Given the description of an element on the screen output the (x, y) to click on. 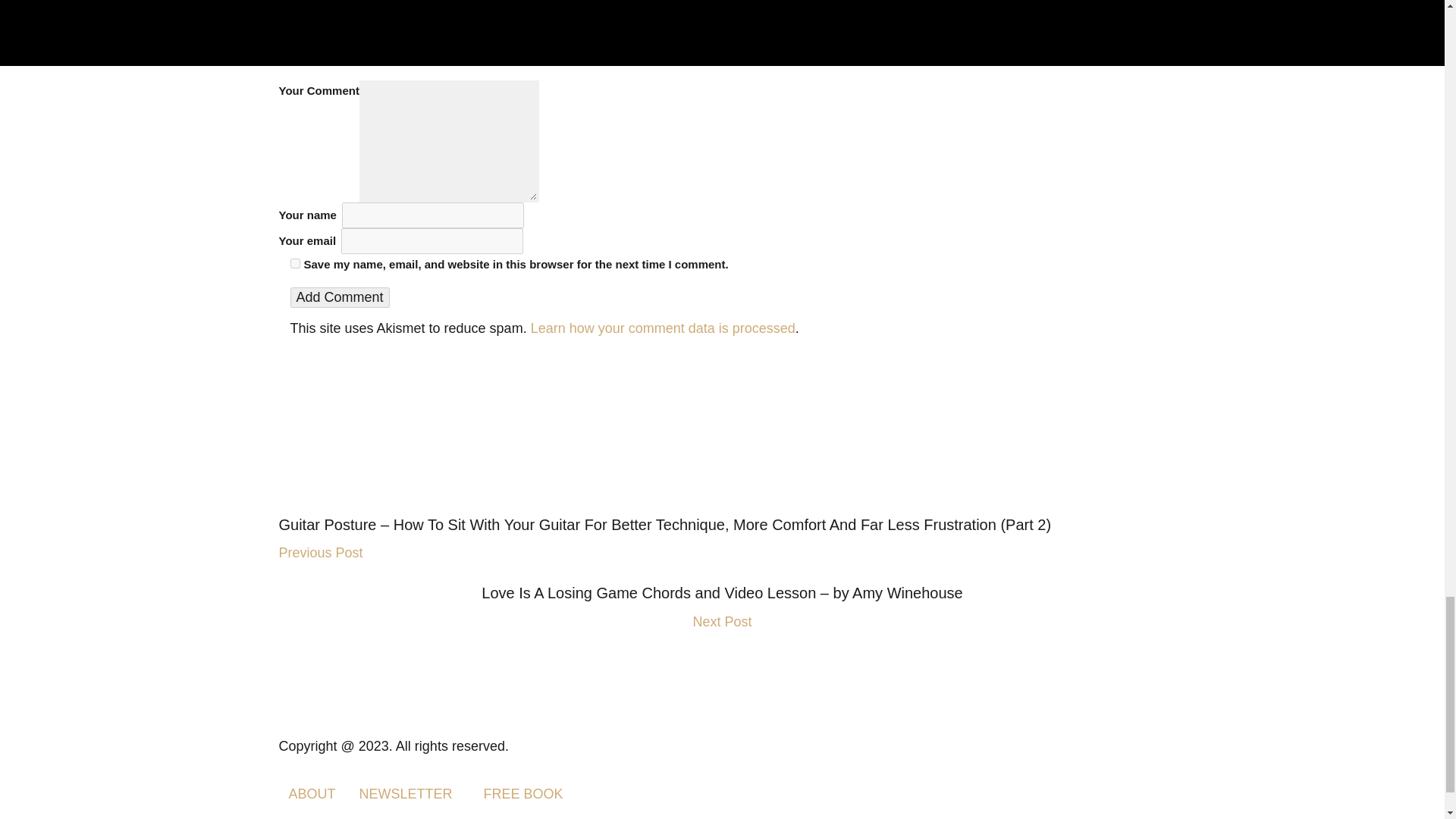
yes (294, 263)
Add Comment (338, 297)
